Given the description of an element on the screen output the (x, y) to click on. 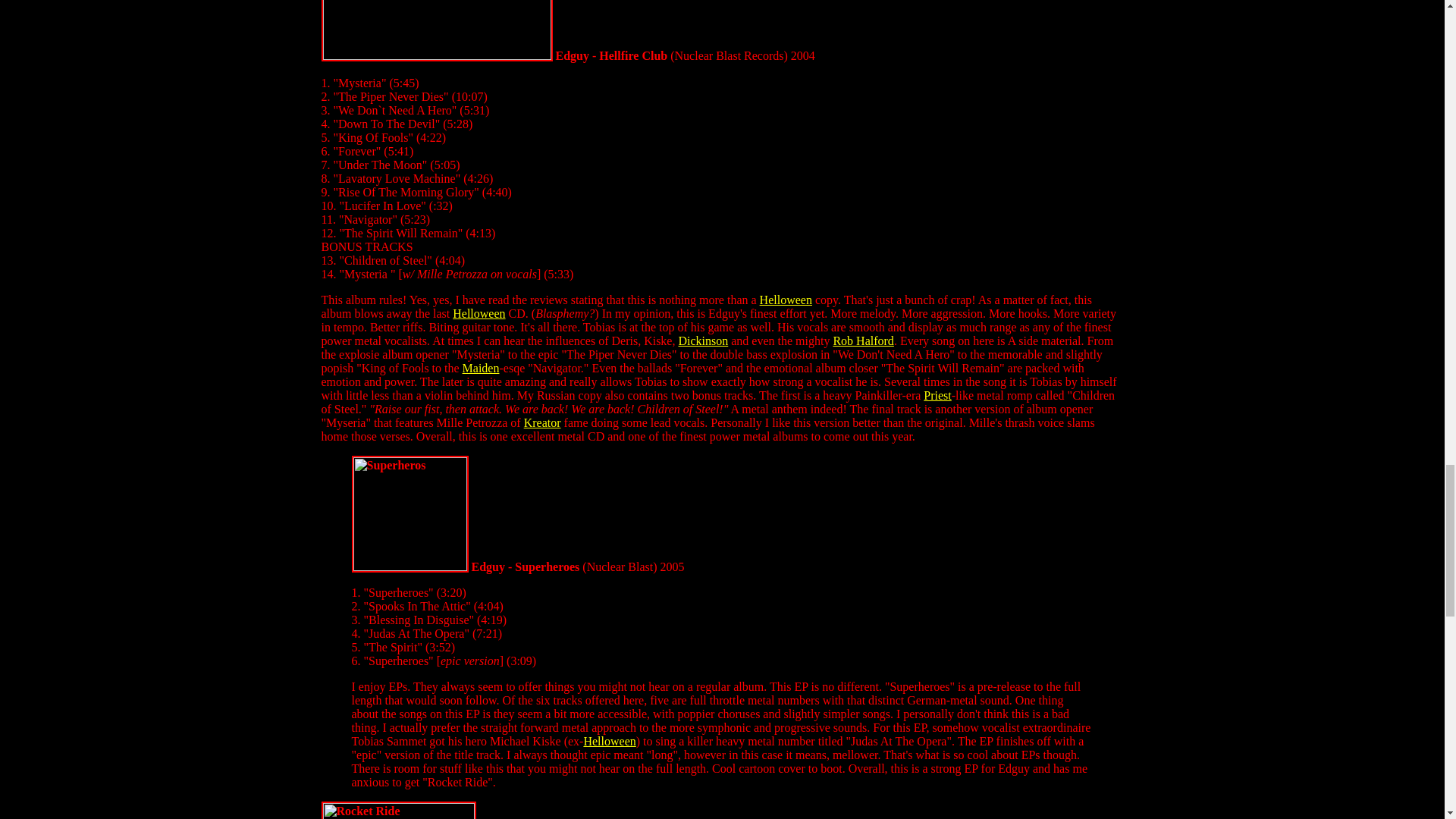
Priest (936, 395)
Rob Halford (862, 340)
Kreator (542, 422)
Maiden (481, 367)
Helloween (608, 740)
Helloween (786, 299)
Dickinson (703, 340)
Helloween (478, 313)
